Given the description of an element on the screen output the (x, y) to click on. 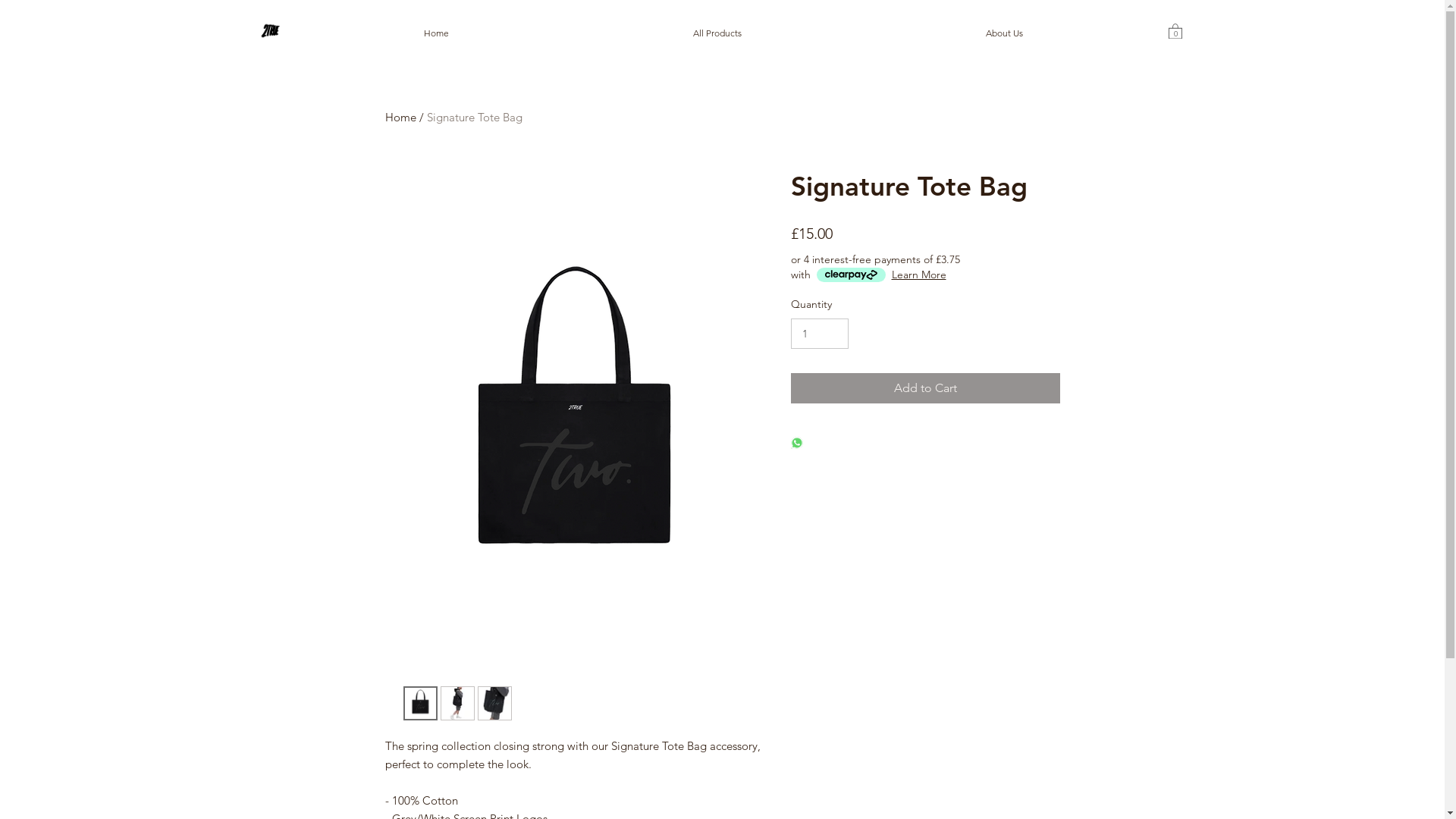
Signature Tote Bag Element type: text (473, 116)
Home Element type: text (400, 116)
All Products Element type: text (717, 32)
Add to Cart Element type: text (924, 388)
0 Element type: text (1174, 30)
About Us Element type: text (1003, 32)
Learn More Element type: text (918, 274)
Home Element type: text (436, 32)
